Given the description of an element on the screen output the (x, y) to click on. 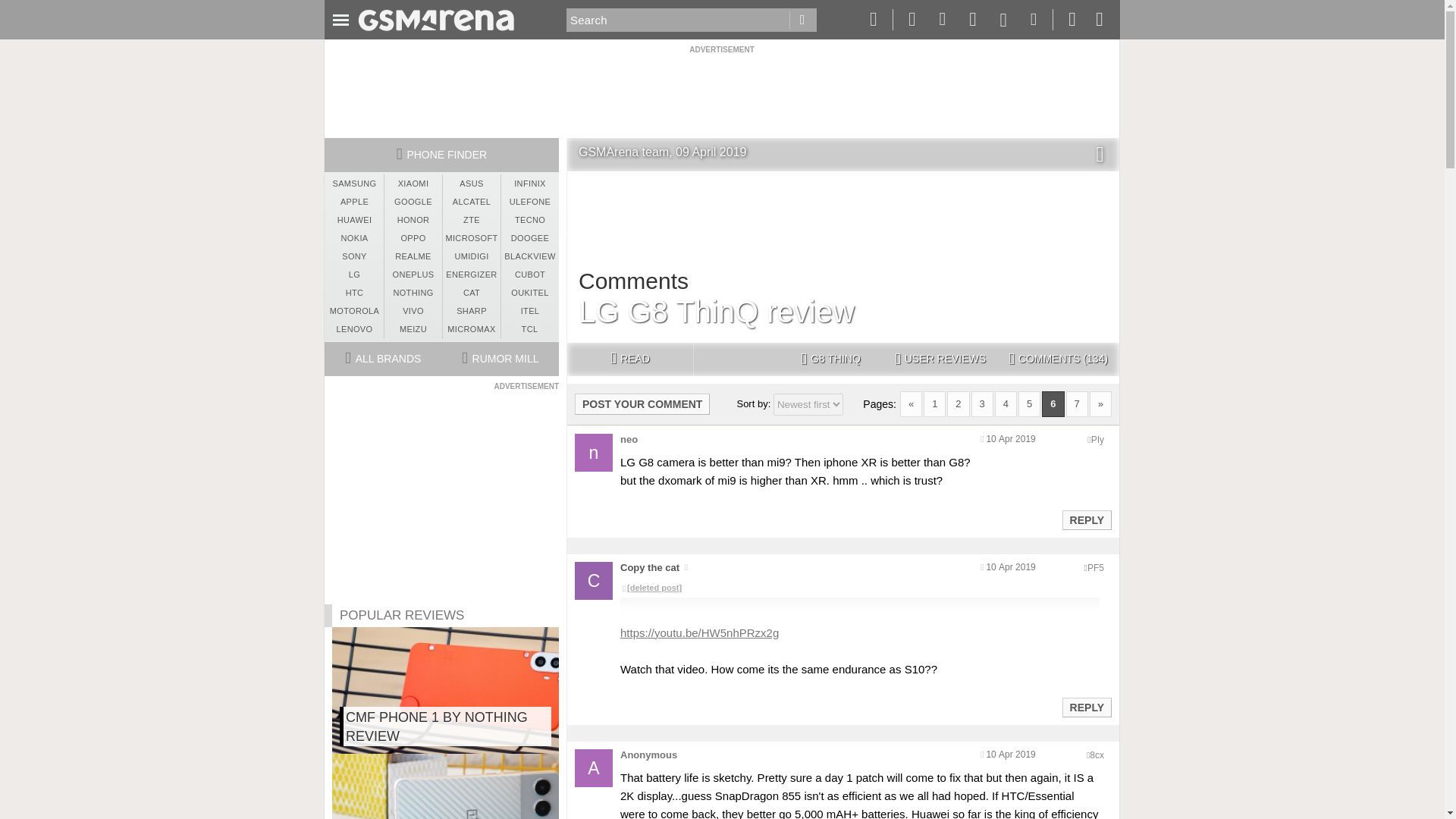
POST YOUR COMMENT (642, 403)
Next page (1100, 403)
3 (981, 403)
Go (802, 19)
Encoded anonymized location (1096, 755)
Previous page (910, 403)
Reply to this post (1086, 707)
G8 THINQ (830, 359)
USER REVIEWS (940, 359)
1 (933, 403)
2 (958, 403)
READ (630, 359)
7 (1076, 403)
Encoded anonymized location (1095, 567)
Sort comments by (808, 404)
